Given the description of an element on the screen output the (x, y) to click on. 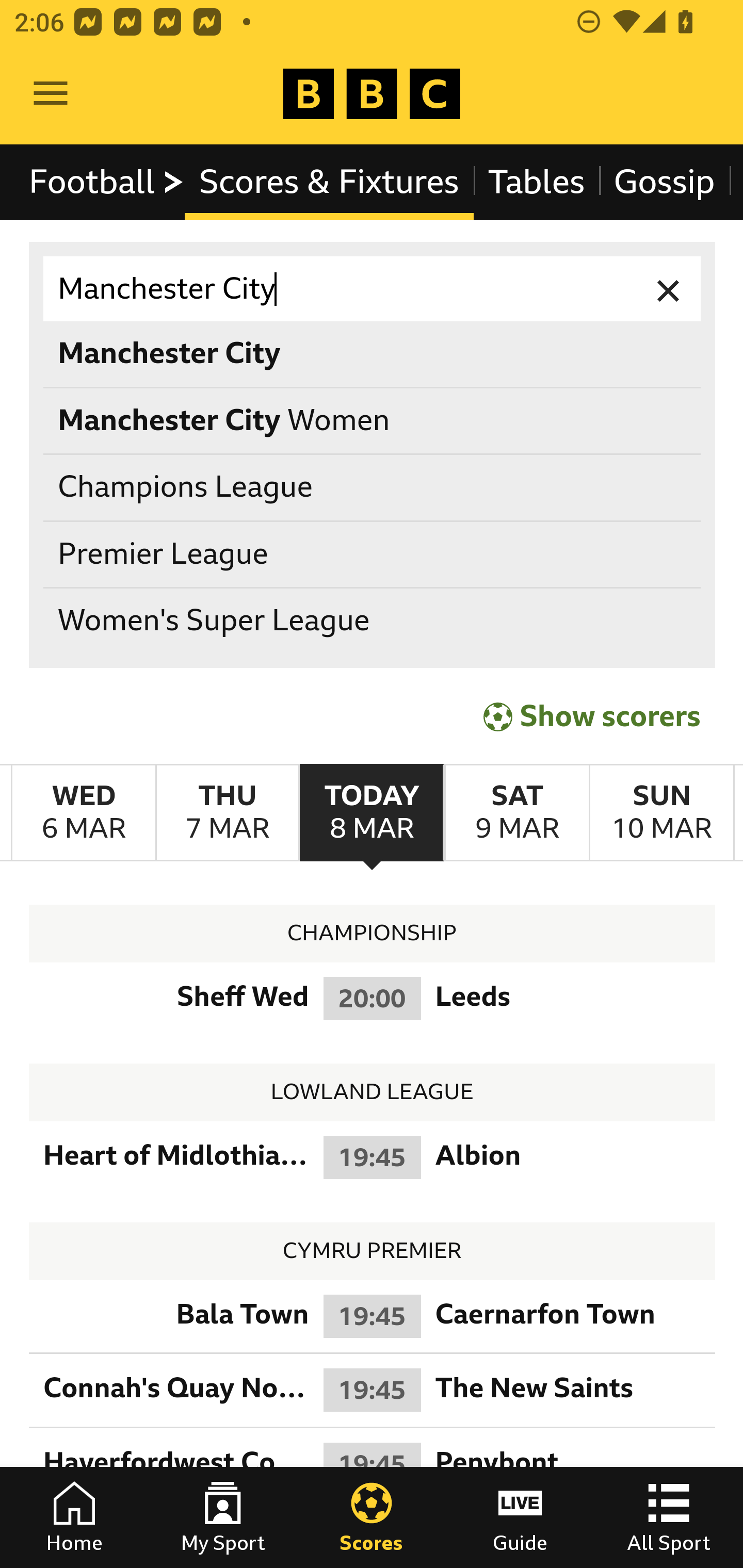
Open Menu (50, 93)
Football  (106, 181)
Scores & Fixtures (329, 181)
Tables (536, 181)
Gossip (664, 181)
Manchester City (372, 289)
Clear input (669, 289)
Manchester City Women Manchester City  Women (372, 419)
Champions League (372, 488)
Premier League (372, 554)
Women's Super League (372, 620)
Show scorers (591, 716)
WednesdayMarch 6th Wednesday March 6th (83, 812)
ThursdayMarch 7th Thursday March 7th (227, 812)
SaturdayMarch 9th Saturday March 9th (516, 812)
SundayMarch 10th Sunday March 10th (661, 812)
Home (74, 1517)
My Sport (222, 1517)
Guide (519, 1517)
All Sport (668, 1517)
